Given the description of an element on the screen output the (x, y) to click on. 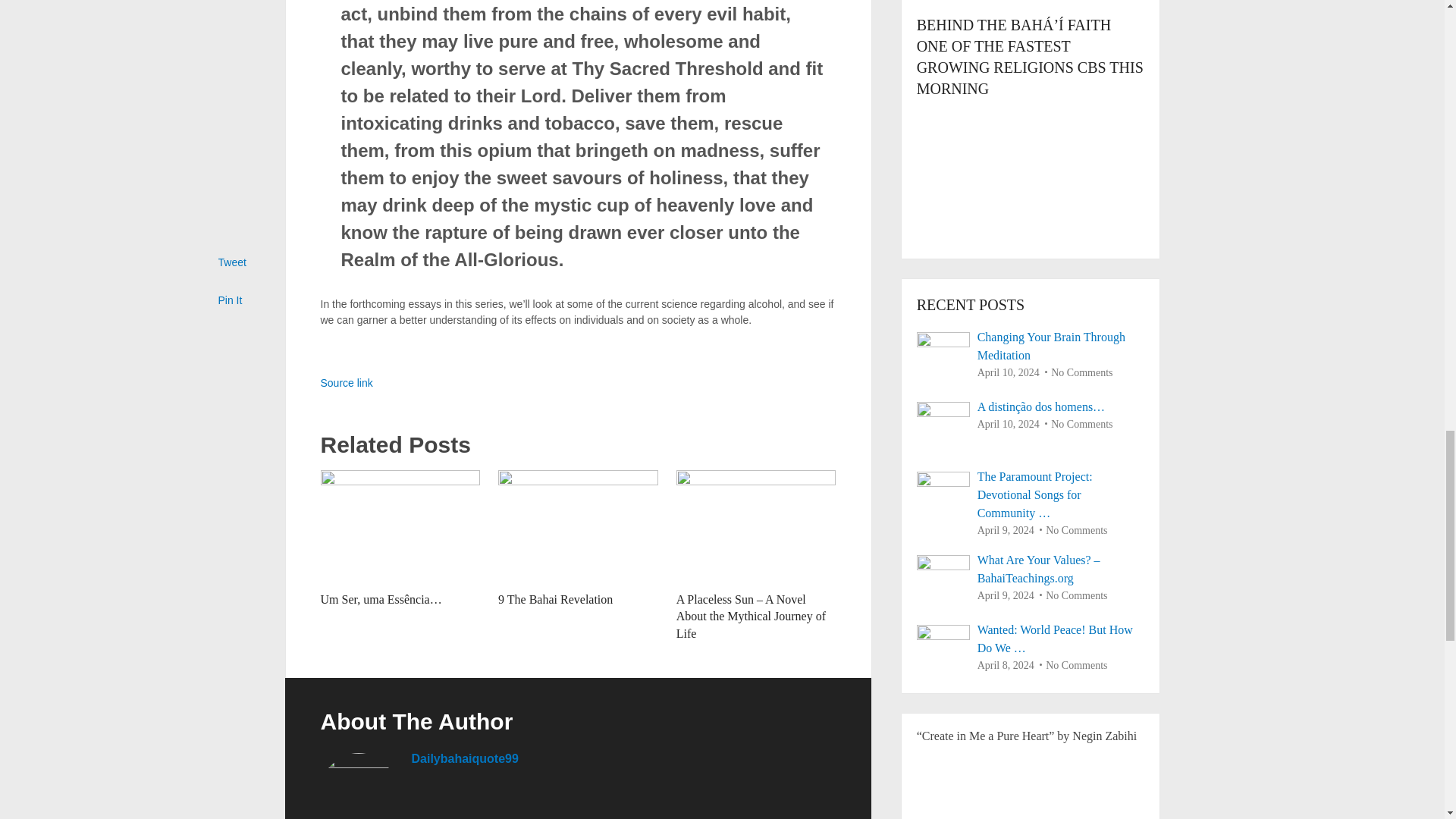
YouTube video player (1030, 167)
Dailybahaiquote99 (464, 758)
9 The Bahai Revelation (554, 599)
Source link (346, 382)
9 The Bahai Revelation (577, 526)
9 The Bahai Revelation (554, 599)
